Given the description of an element on the screen output the (x, y) to click on. 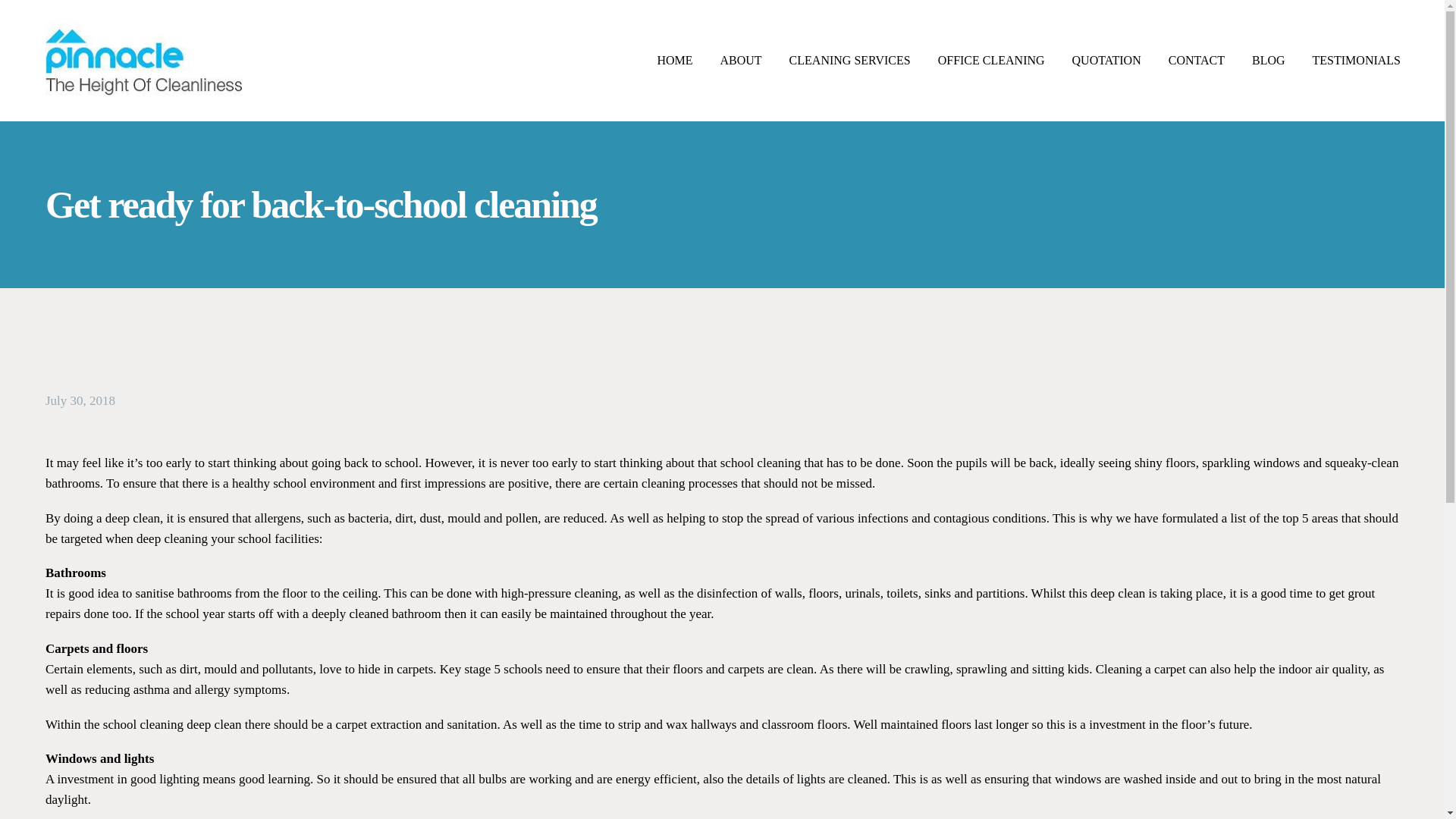
HOME (674, 60)
ABOUT (740, 60)
BLOG (1268, 60)
CONTACT (1196, 60)
TESTIMONIALS (1356, 60)
CLEANING SERVICES (849, 60)
QUOTATION (1107, 60)
OFFICE CLEANING (991, 60)
